Given the description of an element on the screen output the (x, y) to click on. 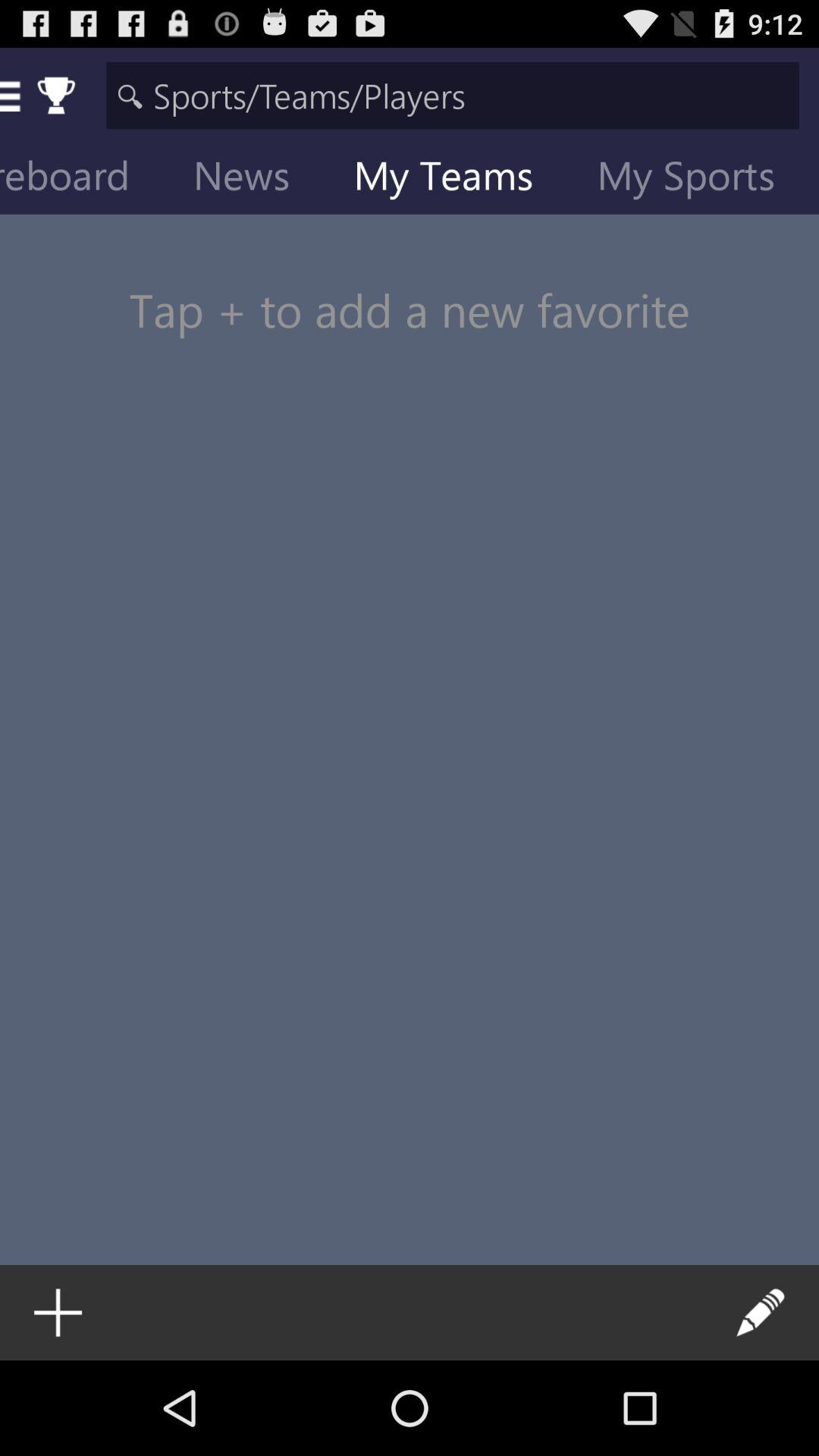
click icon to the left of my teams icon (253, 178)
